Given the description of an element on the screen output the (x, y) to click on. 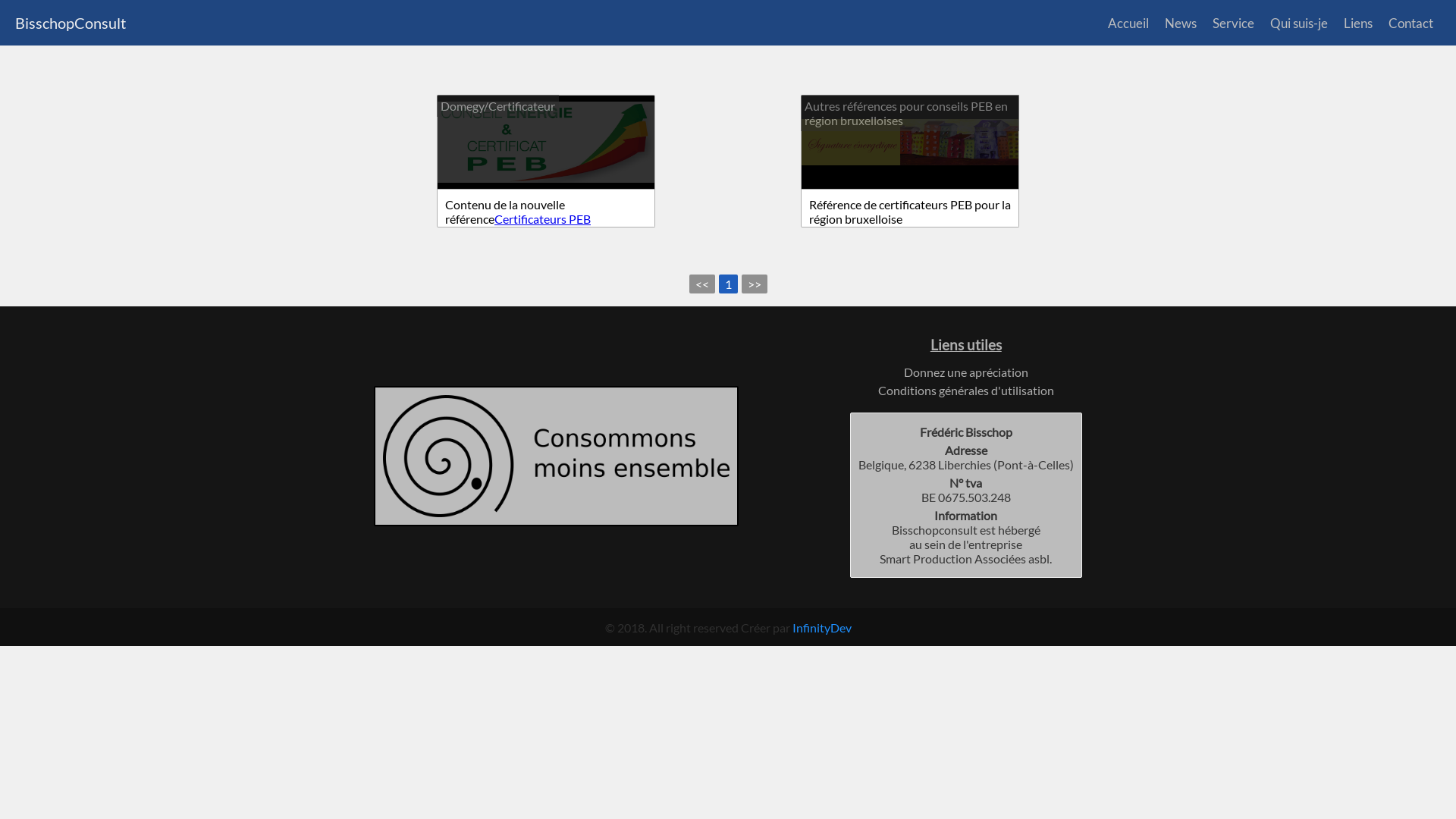
1 Element type: text (727, 283)
Qui suis-je Element type: text (1298, 23)
>> Element type: text (754, 283)
Contact Element type: text (1409, 23)
Certificateurs PEB Element type: text (542, 218)
News Element type: text (1180, 23)
Service Element type: text (1232, 23)
BisschopConsult Element type: text (70, 22)
Accueil Element type: text (1127, 23)
Liens Element type: text (1357, 23)
<< Element type: text (701, 283)
InfinityDev Element type: text (820, 627)
